Given the description of an element on the screen output the (x, y) to click on. 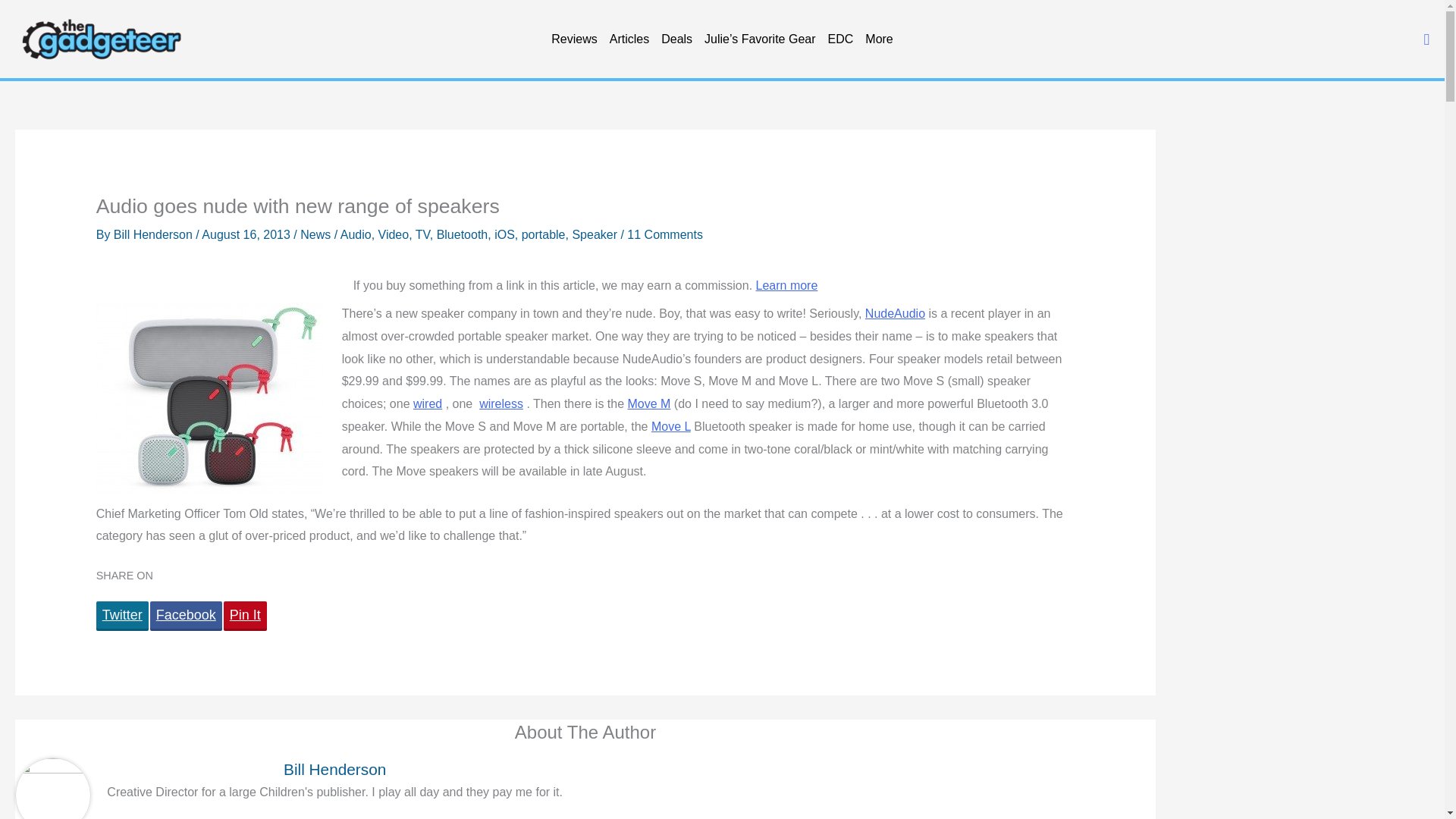
Deals (676, 39)
Articles (629, 39)
View all posts by Bill Henderson (154, 234)
More (878, 39)
Reviews (573, 39)
EDC (841, 39)
